Given the description of an element on the screen output the (x, y) to click on. 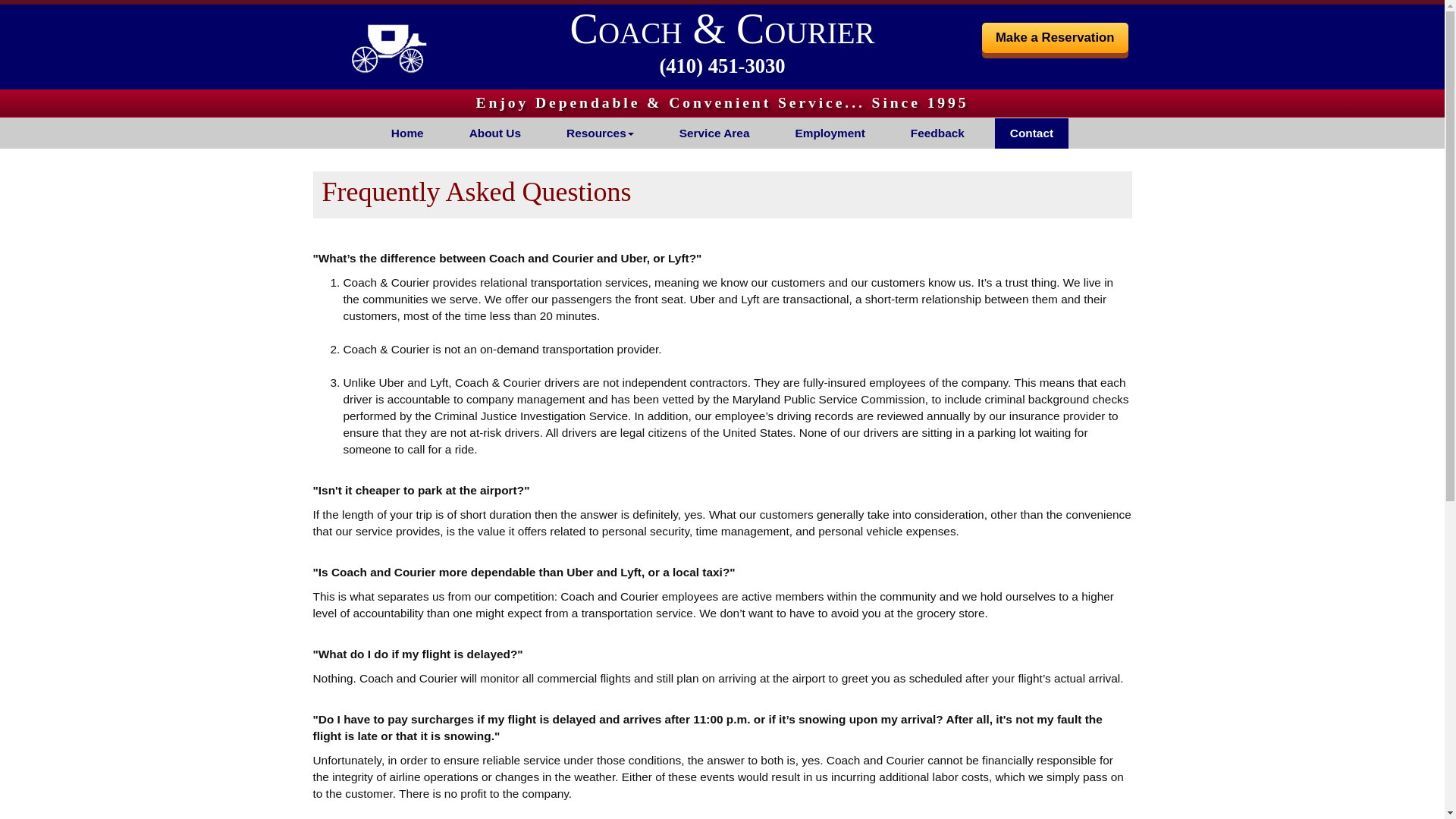
Feedback (937, 132)
Make a Reservation (1054, 37)
Home (407, 132)
About Us (494, 132)
Employment (828, 132)
Contact (1031, 132)
Resources (600, 132)
Service Area (714, 132)
Make a Reservation (1054, 37)
